Given the description of an element on the screen output the (x, y) to click on. 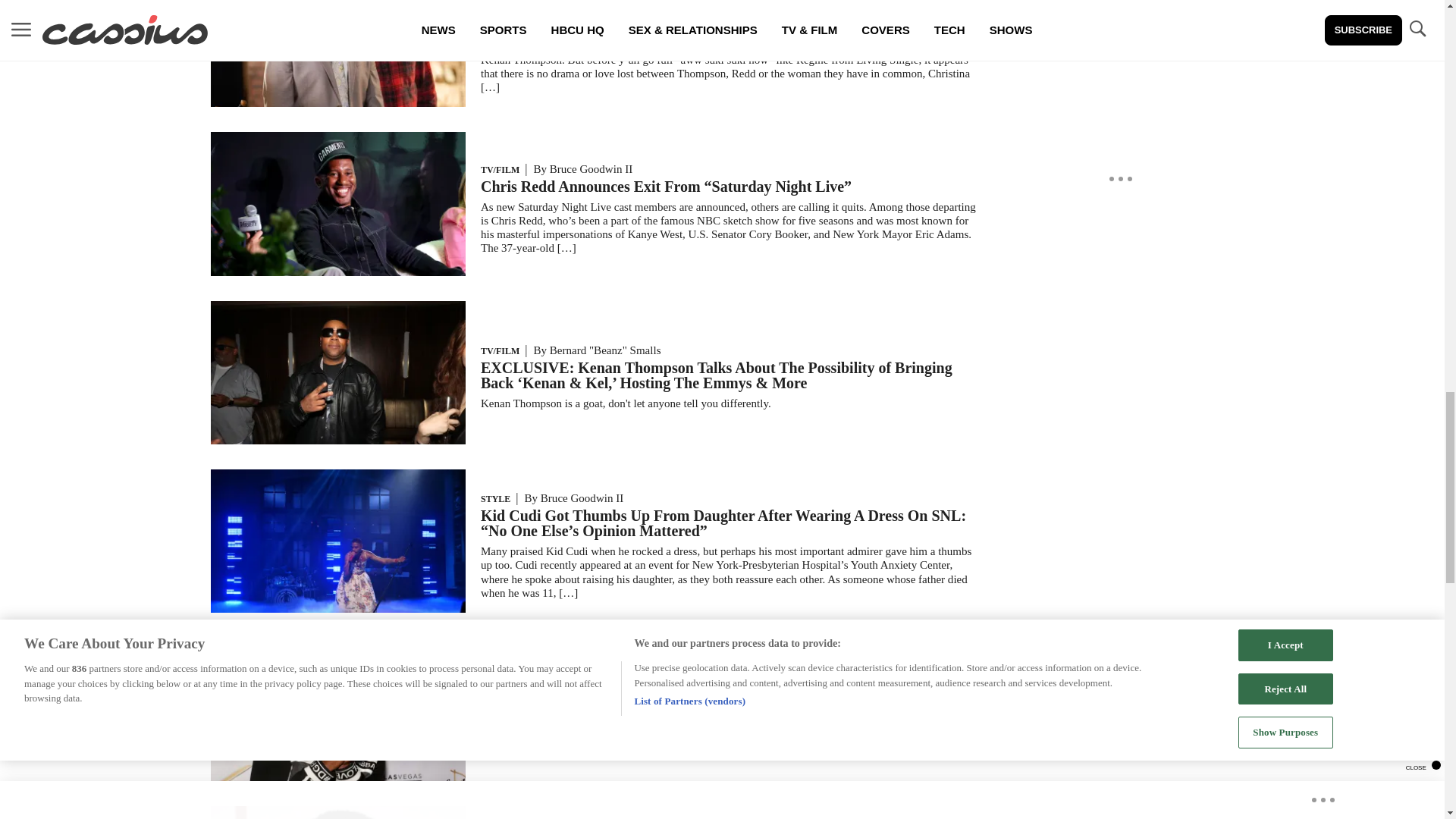
Media Playlist (338, 34)
10 ITEMS (338, 102)
